Given the description of an element on the screen output the (x, y) to click on. 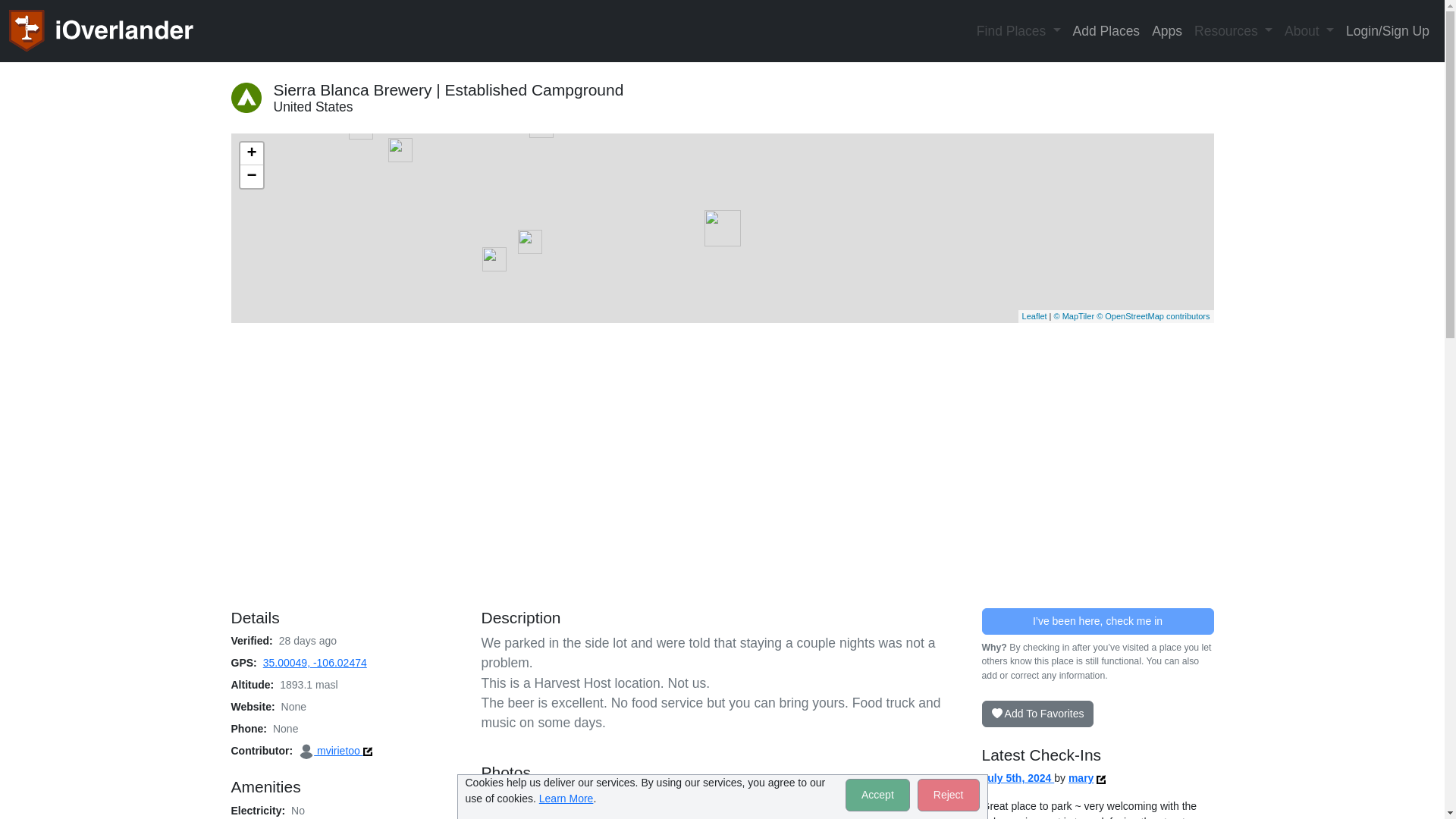
Resources (1233, 30)
35.00049, -106.02474 (314, 662)
Add Places (1107, 30)
Add To Favorites (1037, 714)
About (1308, 30)
Zoom out (251, 176)
Leaflet (1034, 316)
mvirietoo (330, 750)
Zoom in (251, 153)
Apps (1166, 30)
A JS library for interactive maps (1034, 316)
Find Places (1019, 30)
